Given the description of an element on the screen output the (x, y) to click on. 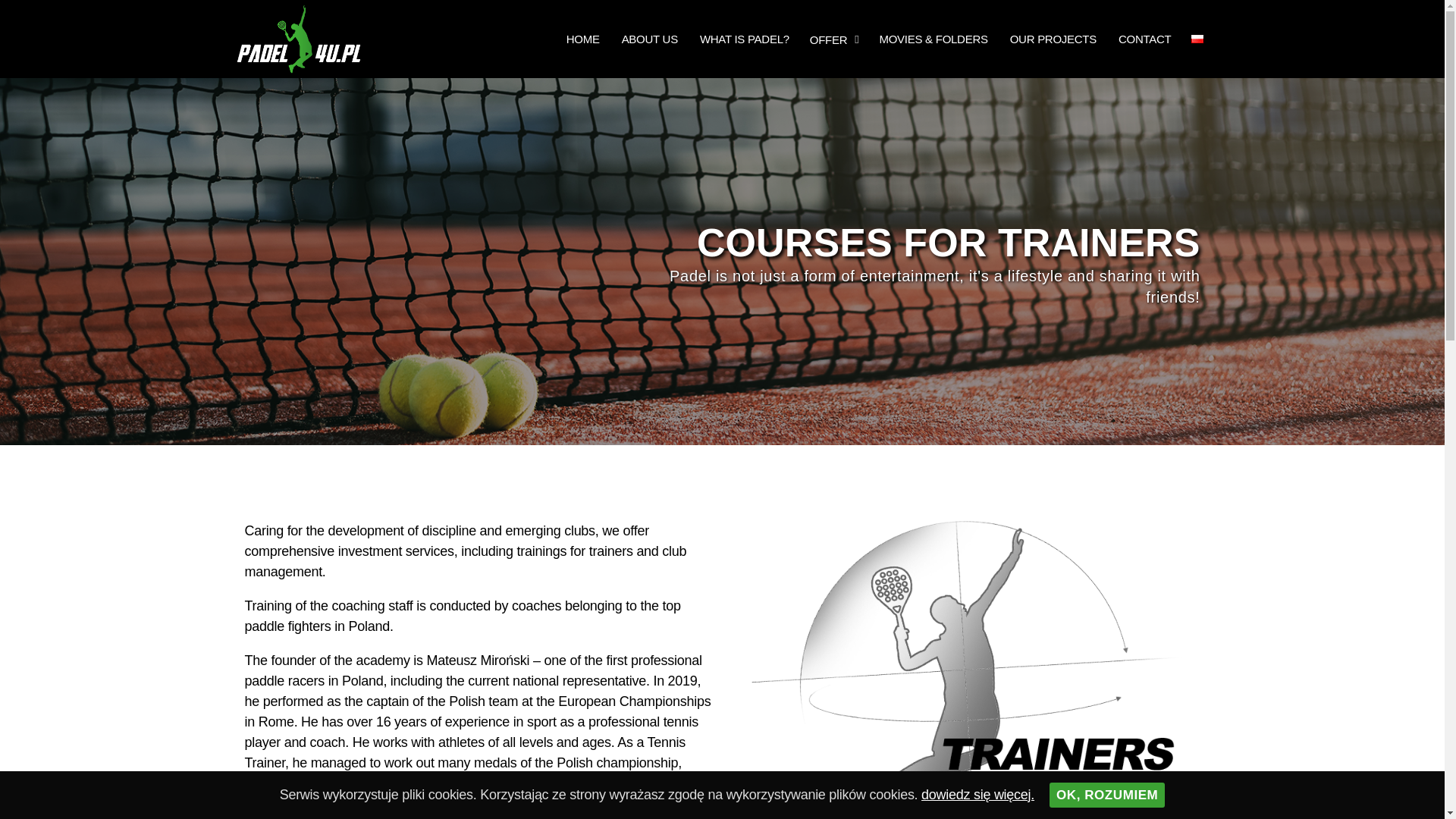
ABOUT US (649, 38)
OUR PROJECTS (1053, 38)
CONTACT (1144, 38)
WHAT IS PADEL? (743, 38)
HOME (582, 38)
OFFER (834, 38)
